Given the description of an element on the screen output the (x, y) to click on. 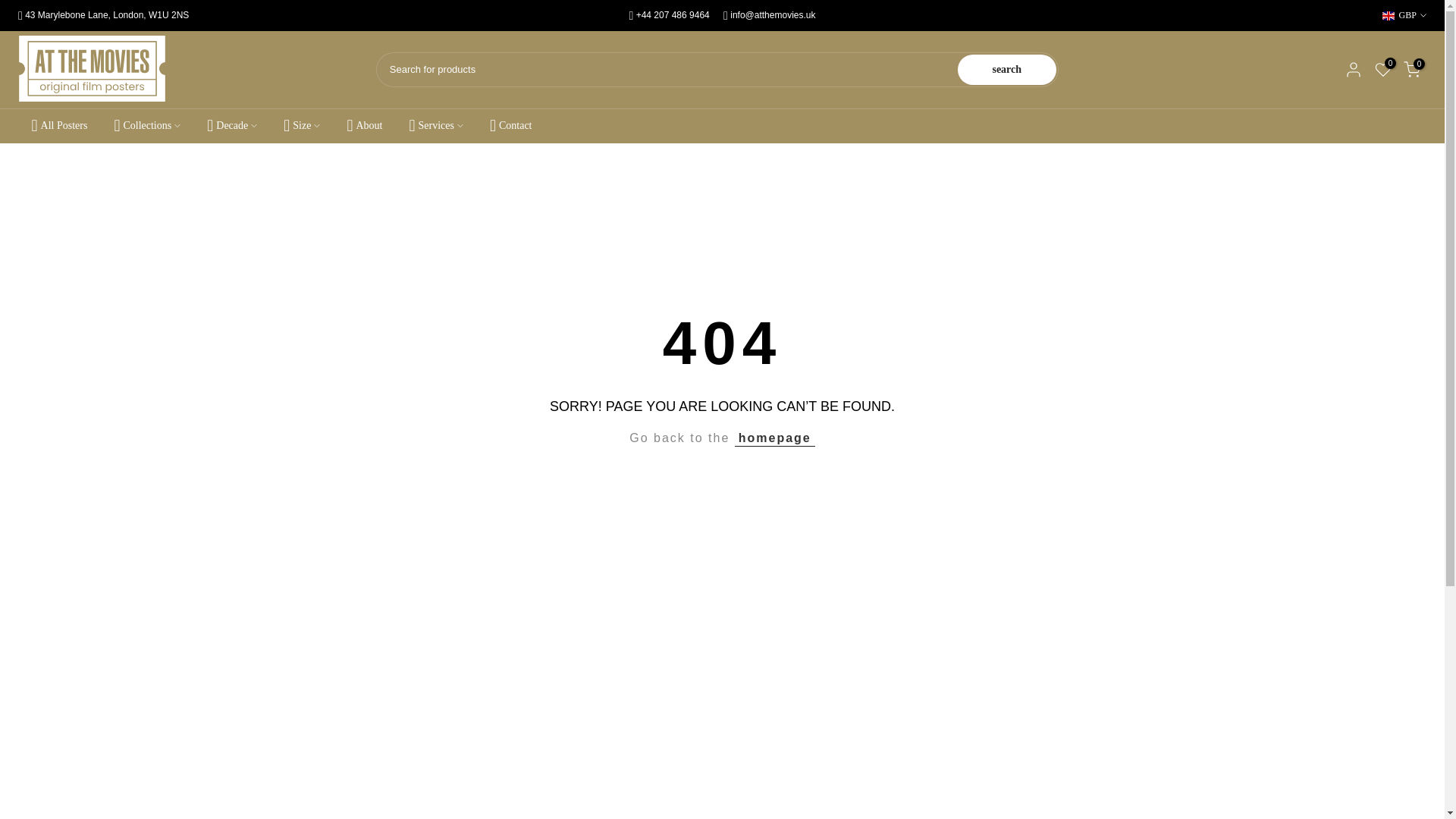
search (1007, 69)
0 (1382, 69)
0 (1412, 69)
Skip to content (10, 7)
All Posters (58, 125)
Collections (146, 125)
GBP (1403, 14)
